Given the description of an element on the screen output the (x, y) to click on. 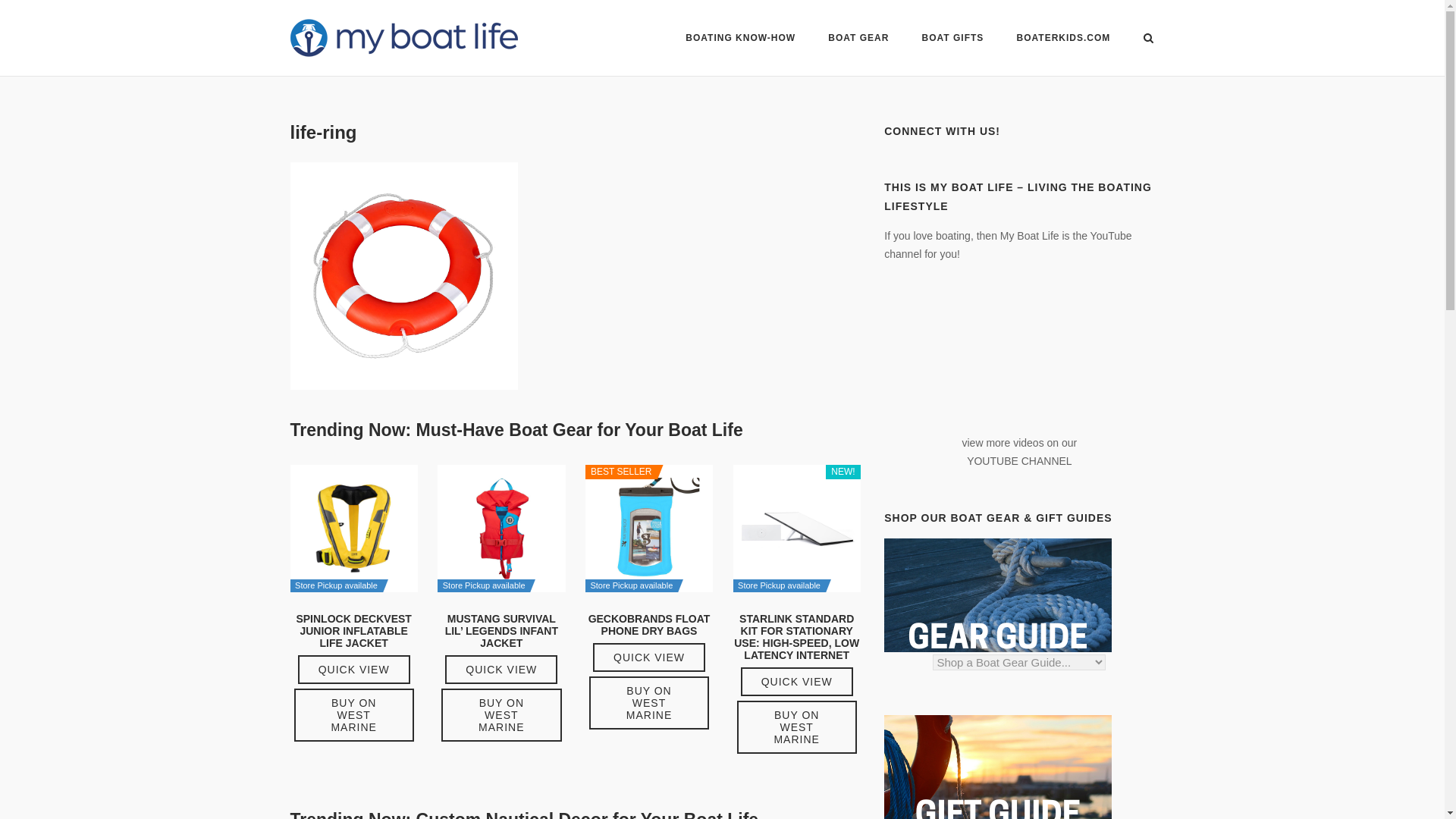
BOATERKIDS.COM (1063, 40)
Store Pickup available (352, 528)
BOAT GIFTS (952, 39)
BOAT GEAR (858, 39)
BOATING KNOW-HOW (739, 39)
SPINLOCK DECKVEST JUNIOR INFLATABLE LIFE JACKET (352, 643)
